Given the description of an element on the screen output the (x, y) to click on. 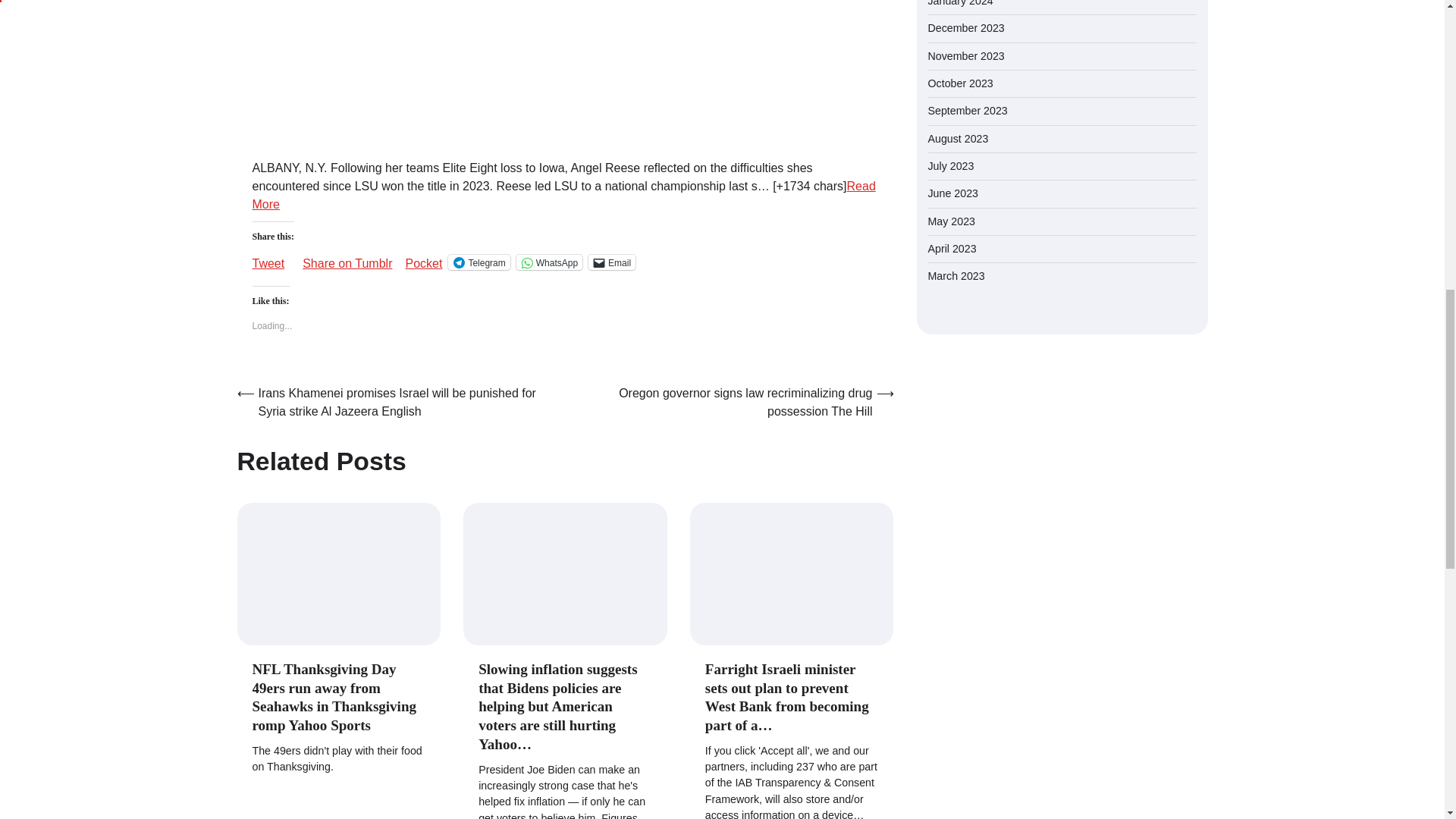
Click to share on WhatsApp (549, 262)
Share on Tumblr (346, 257)
Email (611, 262)
WhatsApp (549, 262)
Pocket (423, 263)
Click to email a link to a friend (611, 262)
Tweet (267, 257)
Click to share on Telegram (478, 262)
Read More (563, 194)
